Given the description of an element on the screen output the (x, y) to click on. 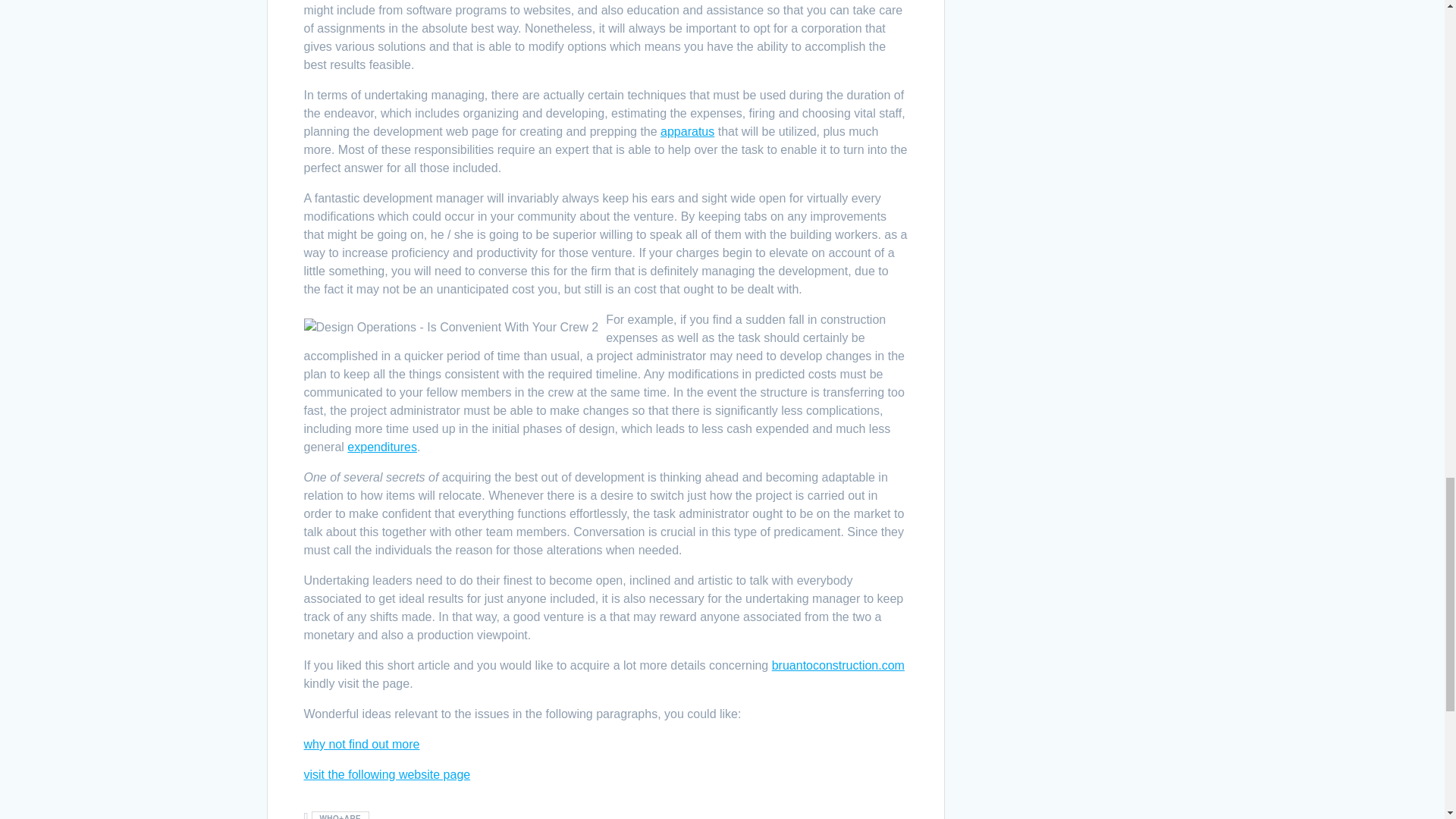
why not find out more (360, 744)
visit the following website page (386, 774)
apparatus (687, 131)
bruantoconstruction.com (837, 665)
expenditures (381, 446)
